Given the description of an element on the screen output the (x, y) to click on. 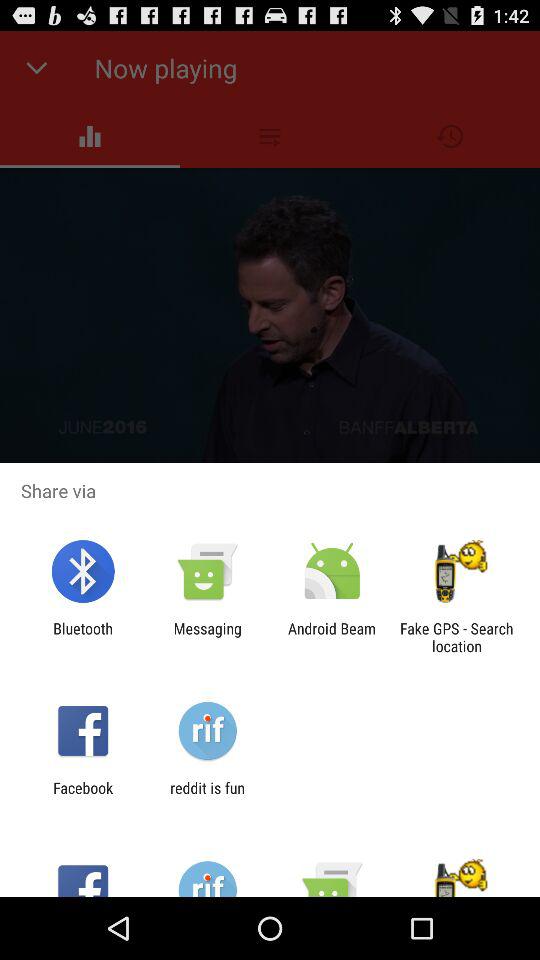
choose item to the left of fake gps search app (332, 637)
